Given the description of an element on the screen output the (x, y) to click on. 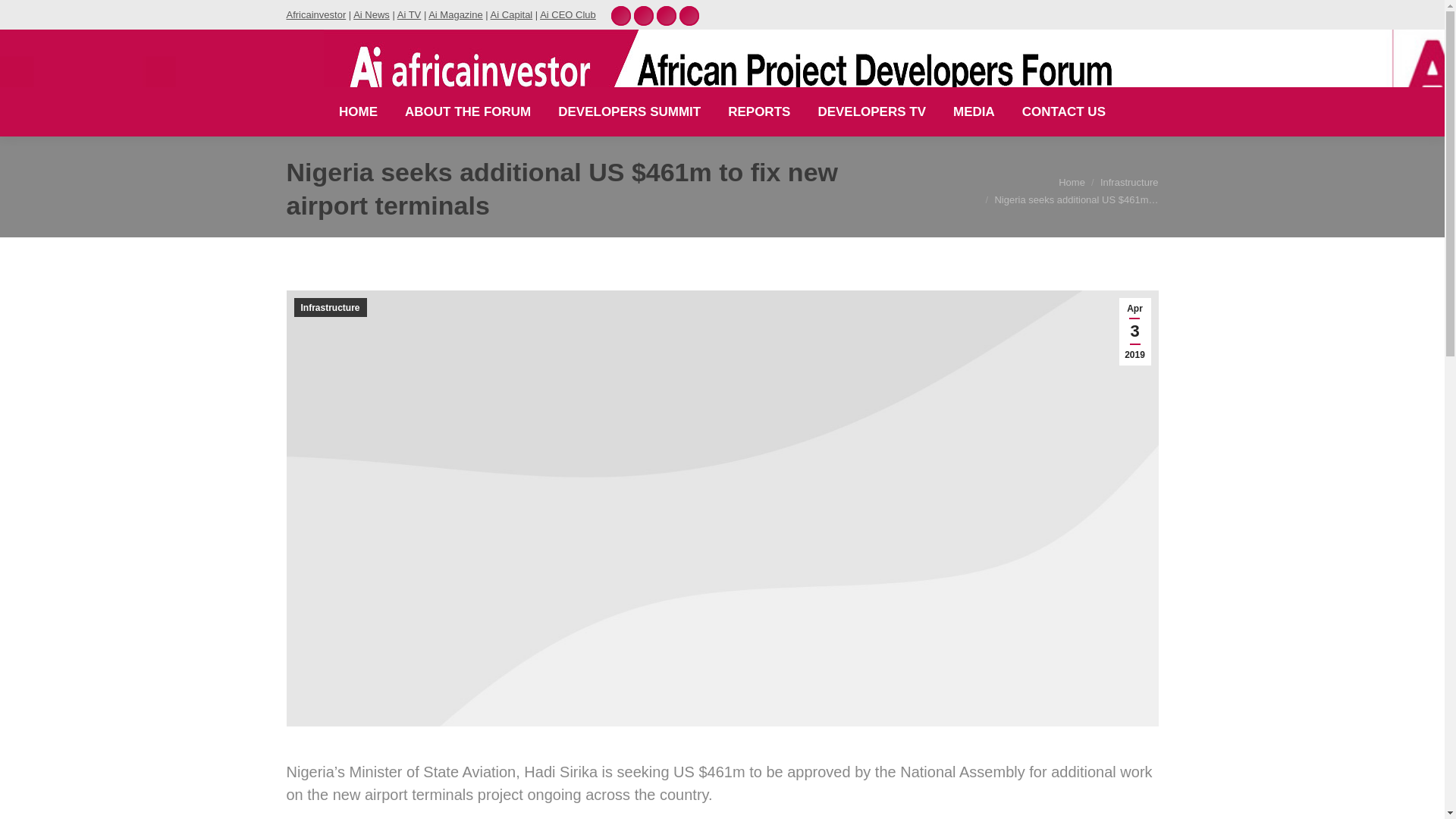
Africainvestor (316, 14)
Twitter page opens in new window (666, 15)
DEVELOPERS SUMMIT (628, 111)
Ai TV (409, 14)
ABOUT THE FORUM (467, 111)
Ai CEO Club (567, 14)
Pinterest page opens in new window (620, 15)
Linkedin page opens in new window (643, 15)
Facebook page opens in new window (688, 15)
DEVELOPERS TV (870, 111)
Ai News (371, 14)
REPORTS (759, 111)
Home (1071, 181)
Facebook page opens in new window (688, 15)
Ai Capital (511, 14)
